Given the description of an element on the screen output the (x, y) to click on. 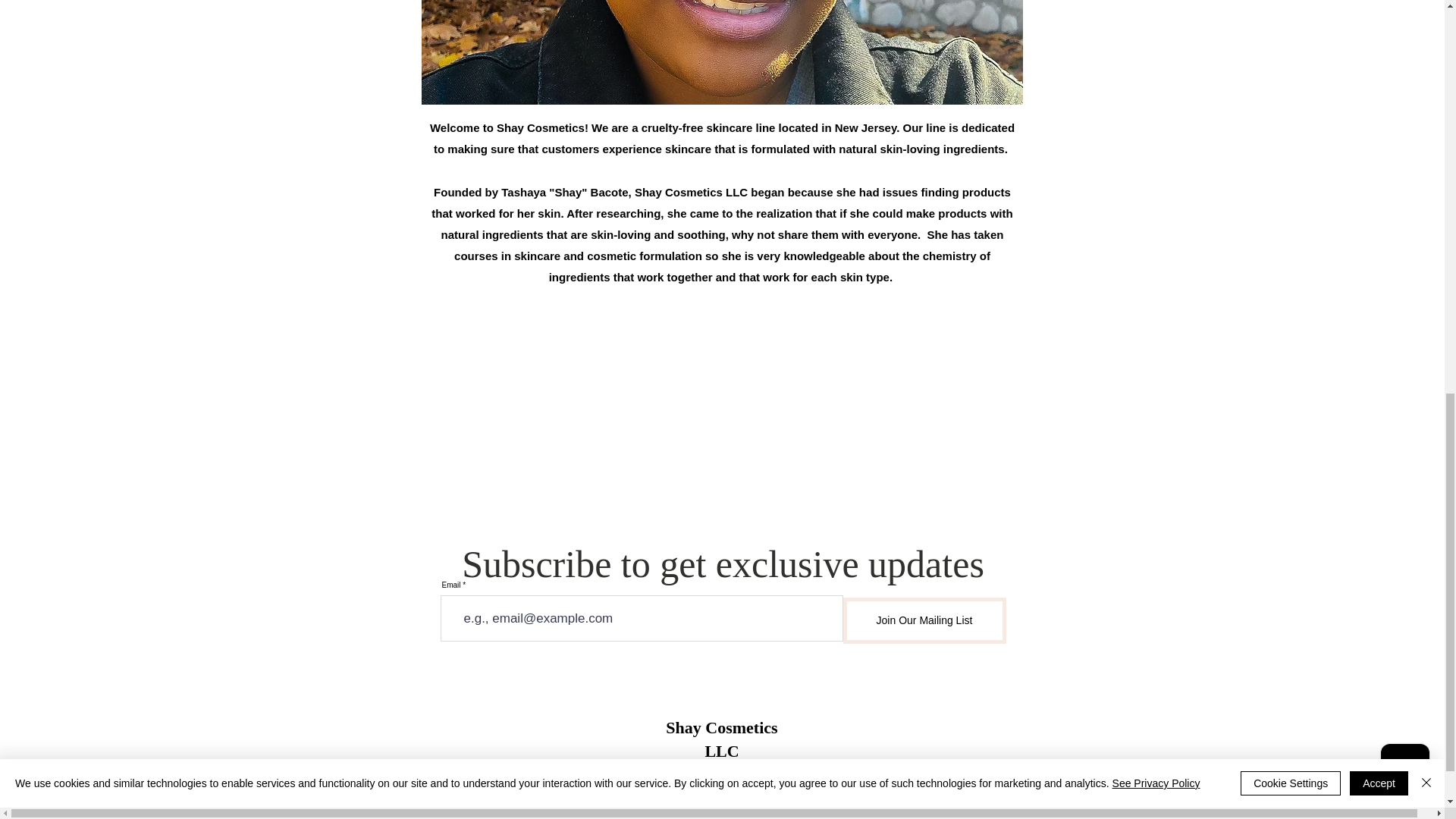
Join Our Mailing List (924, 620)
Shay Cosmetics LLC (721, 739)
